Given the description of an element on the screen output the (x, y) to click on. 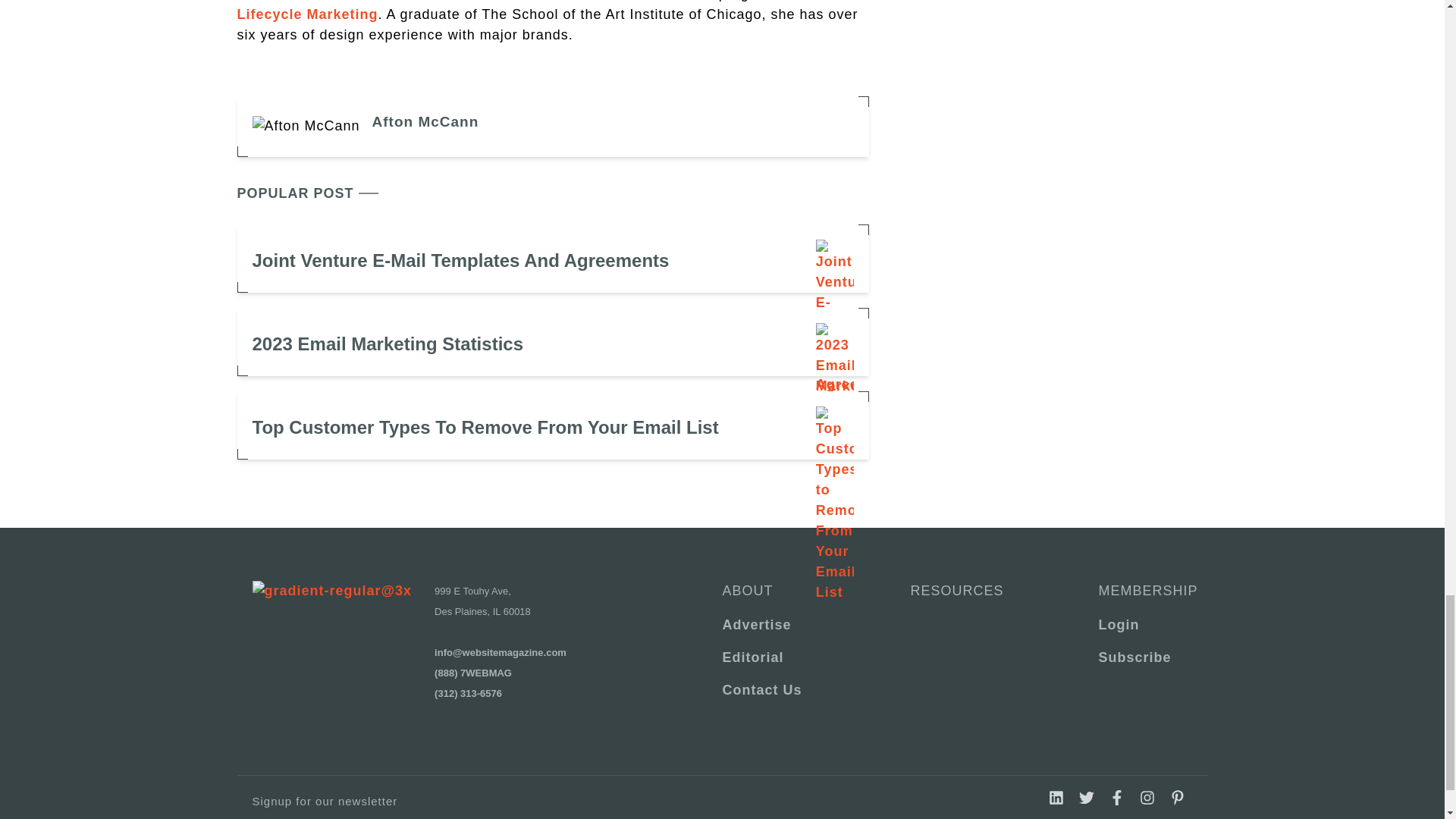
Joint Venture E-Mail Templates And Agreements (551, 258)
Yes Lifecycle Marketing (528, 11)
Afton McCann (425, 121)
Marriott Rewards (611, 0)
